Given the description of an element on the screen output the (x, y) to click on. 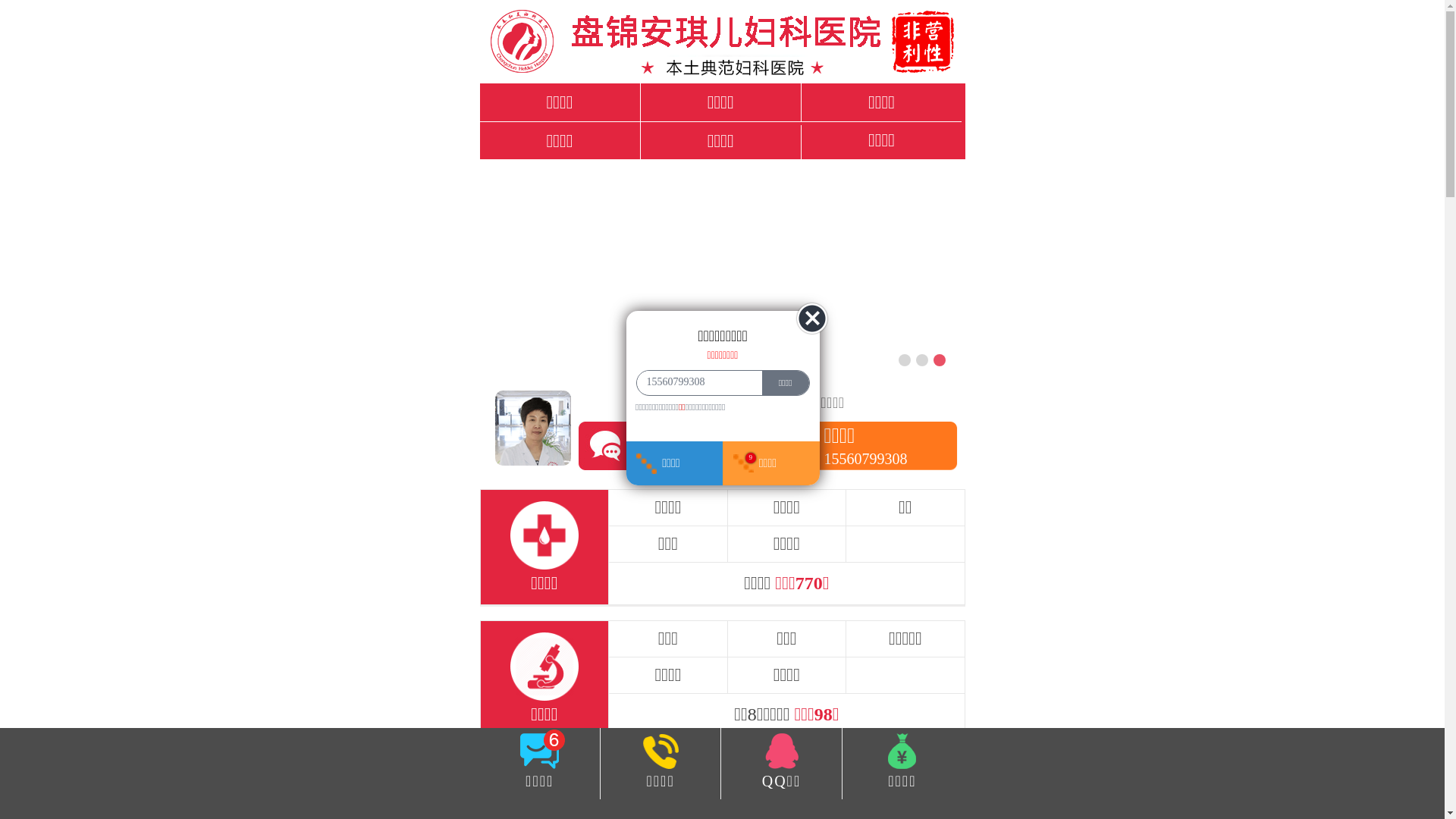
15560799308  Element type: text (695, 381)
